Given the description of an element on the screen output the (x, y) to click on. 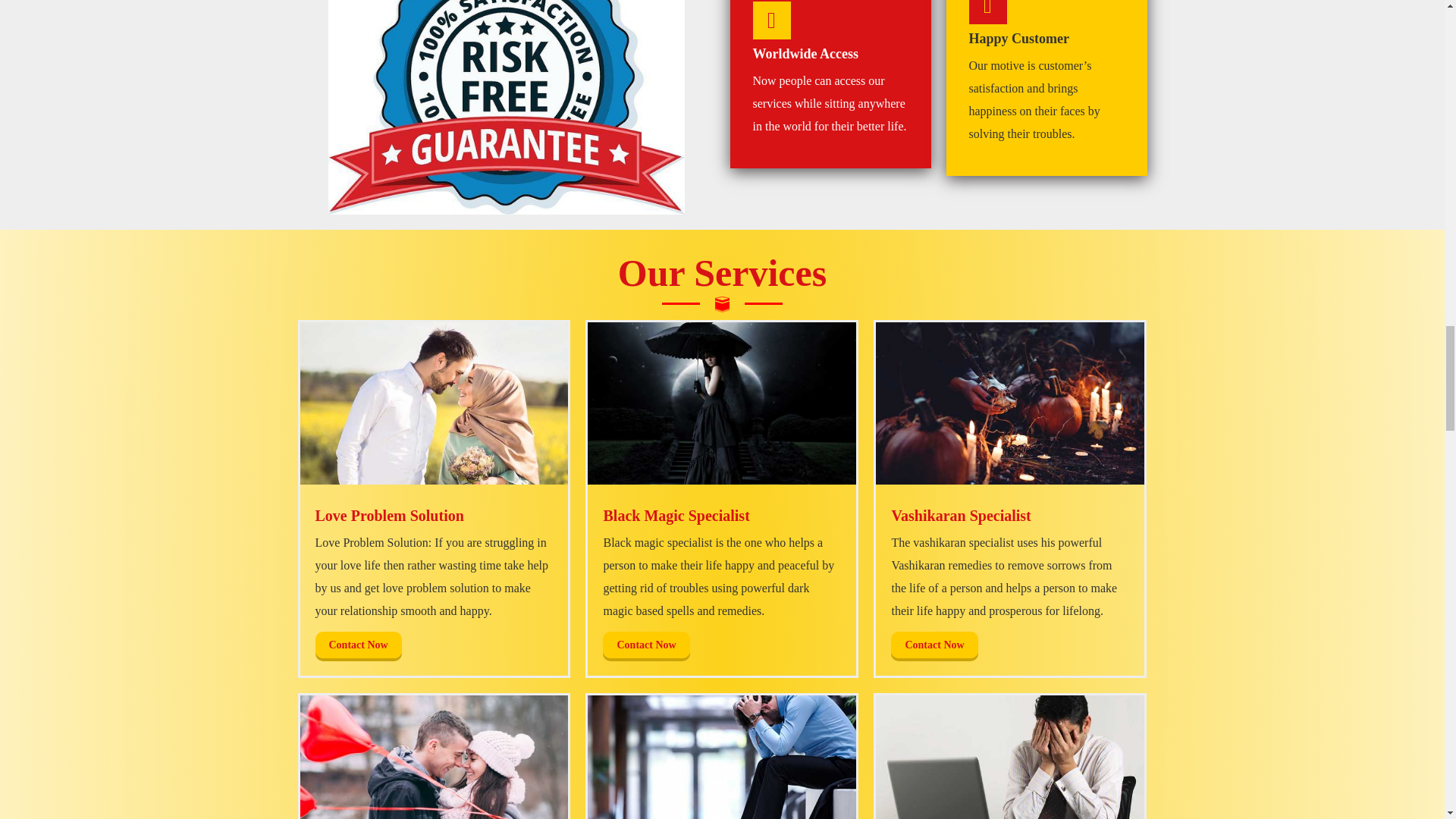
Contact (358, 644)
Black Magic Specialist (722, 403)
Contact Now (358, 644)
Love Problem Solution (505, 107)
Love Problem Solution (434, 403)
Contact Now (933, 644)
Contact Now (645, 644)
Contact (645, 644)
Vashikaran Specialist (1010, 403)
